Given the description of an element on the screen output the (x, y) to click on. 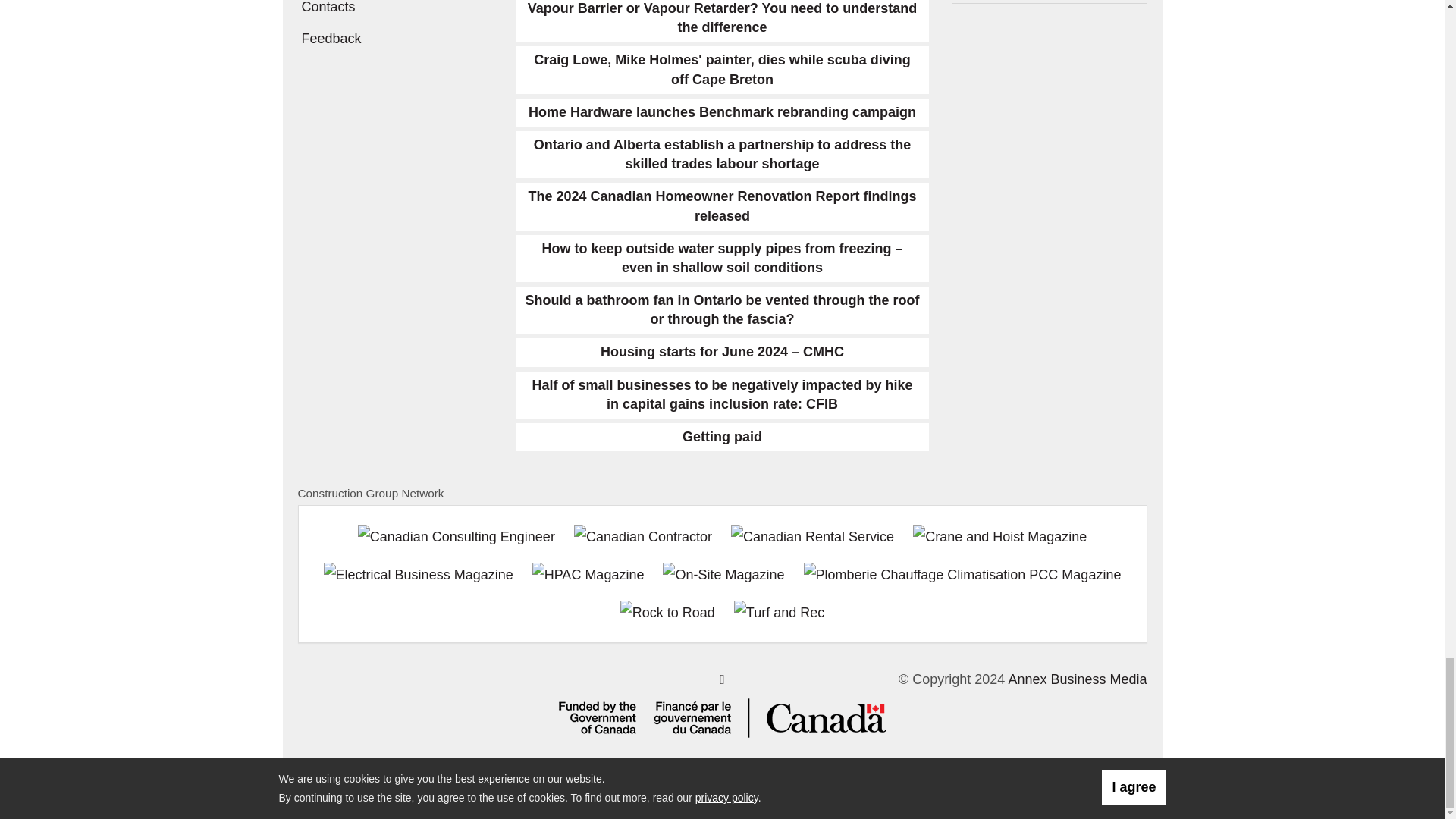
Annex Business Media (1077, 679)
